Given the description of an element on the screen output the (x, y) to click on. 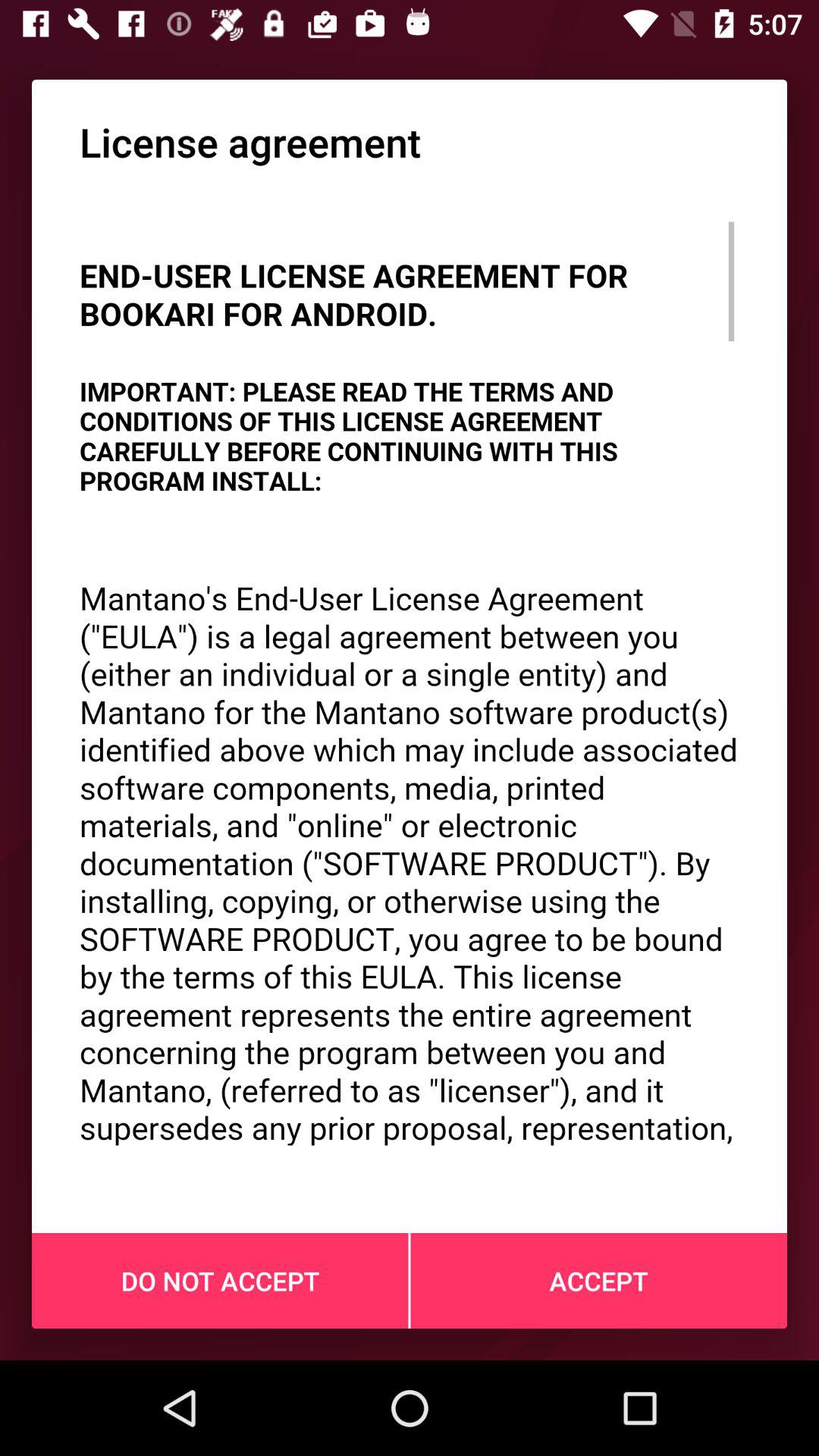
turn off do not accept (219, 1280)
